Given the description of an element on the screen output the (x, y) to click on. 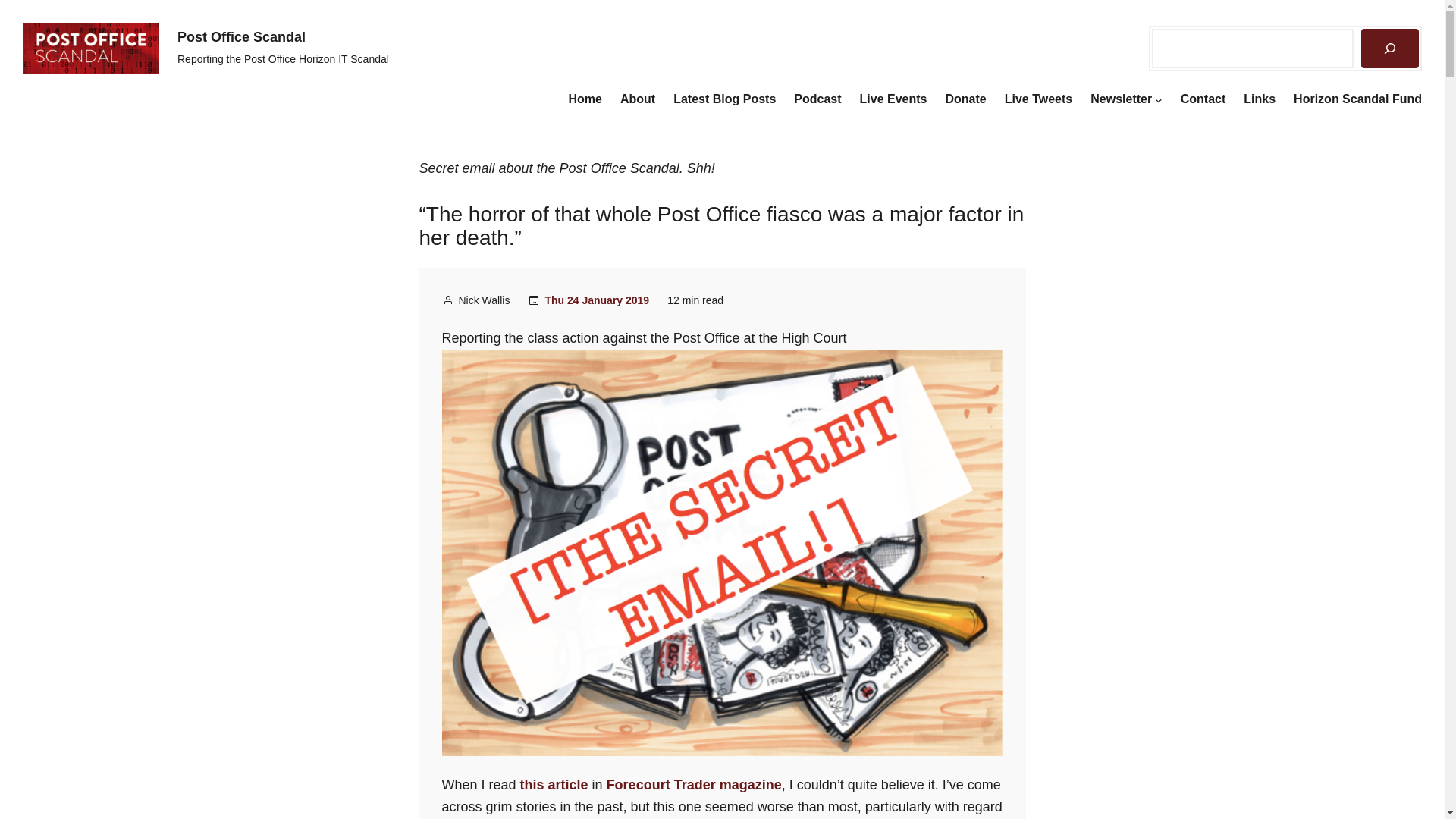
Post Office Scandal (241, 37)
Donate (964, 98)
Thu 24 January 2019 (596, 300)
Newsletter (1120, 98)
Links (1259, 98)
Forecourt Trader magazine (694, 784)
Live Tweets (1038, 98)
Latest Blog Posts (724, 98)
Live Events (893, 98)
Podcast (817, 98)
